Given the description of an element on the screen output the (x, y) to click on. 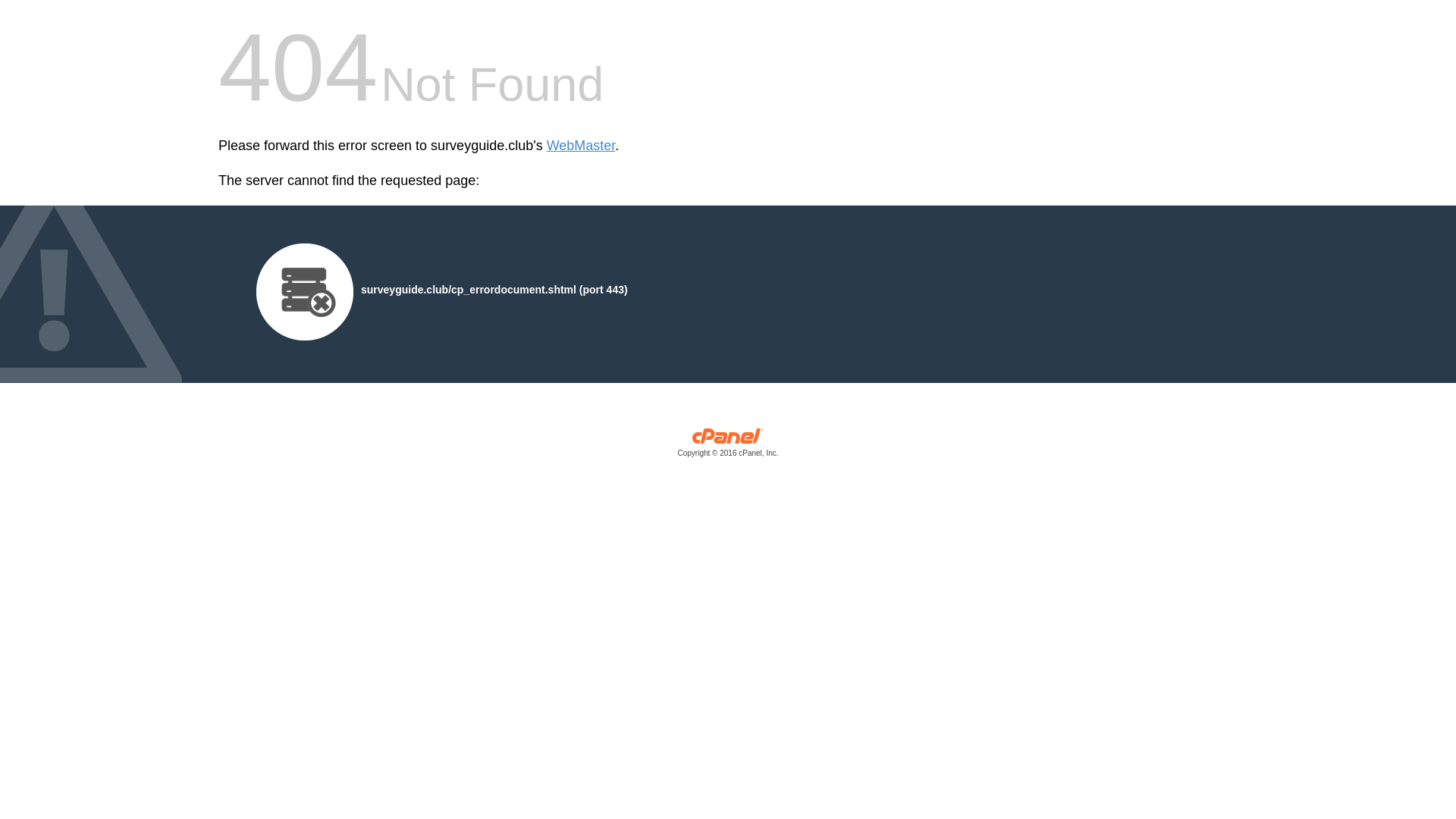
cPanel, Inc. (727, 446)
WebMaster (581, 145)
